Given the description of an element on the screen output the (x, y) to click on. 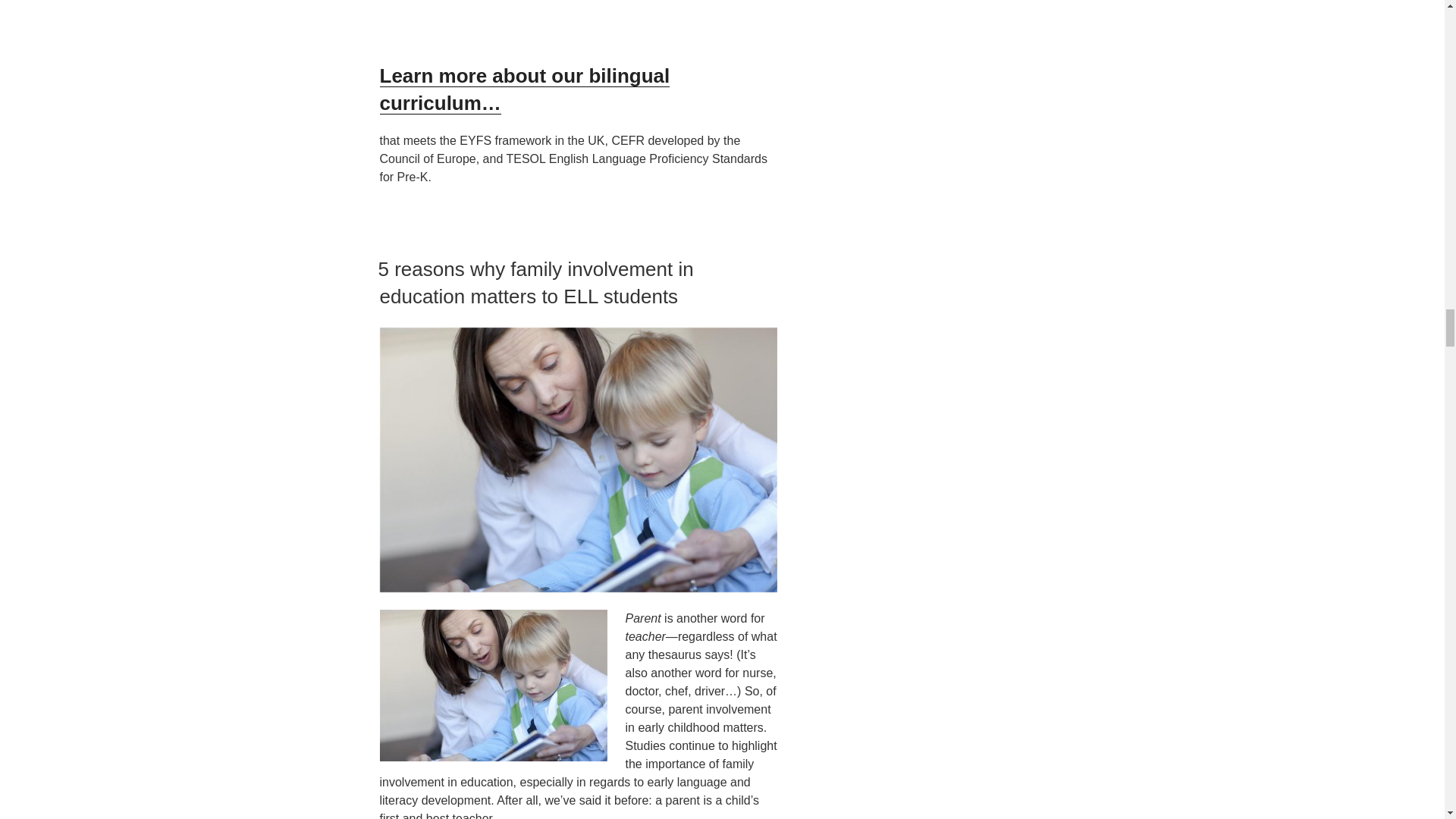
English Language Learning (523, 89)
